Given the description of an element on the screen output the (x, y) to click on. 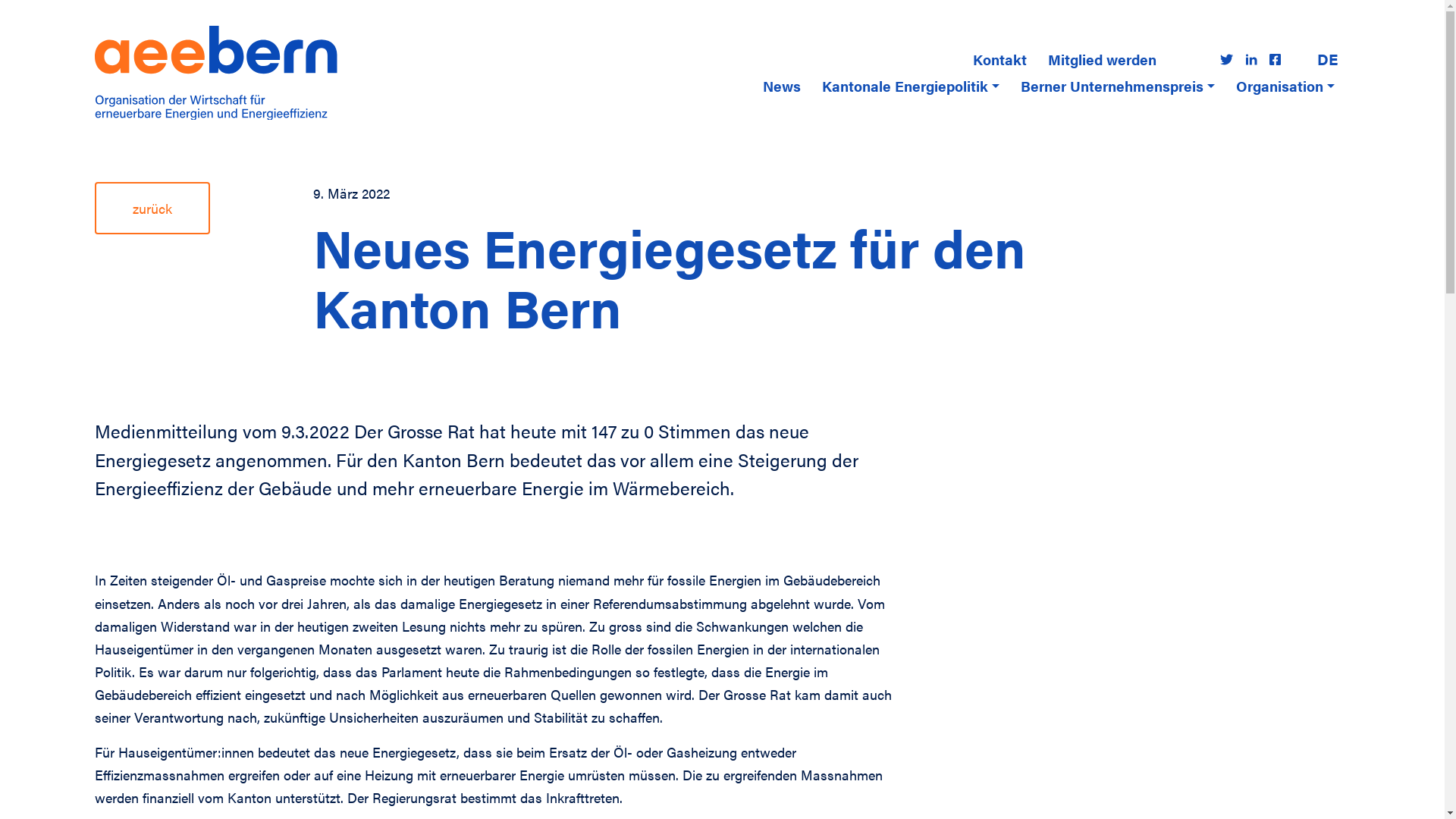
Berner Unternehmenspreis Element type: text (1117, 85)
Mitglied werden Element type: text (1101, 59)
Organisation Element type: text (1285, 85)
News Element type: text (781, 85)
Kantonale Energiepolitik Element type: text (910, 85)
DE Element type: text (1327, 58)
logo-twitter Element type: text (1226, 59)
Kontakt Element type: text (999, 59)
